Given the description of an element on the screen output the (x, y) to click on. 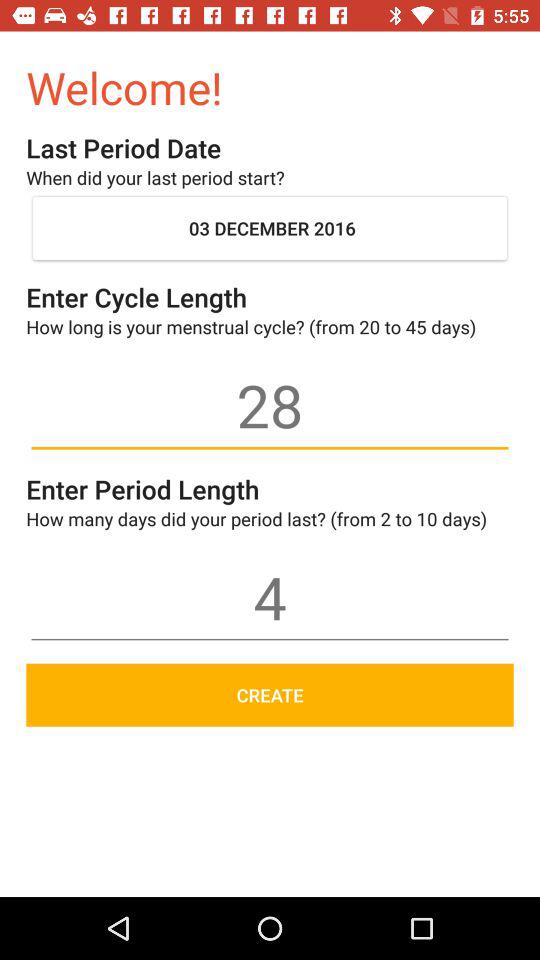
launch icon below how long is (269, 405)
